Given the description of an element on the screen output the (x, y) to click on. 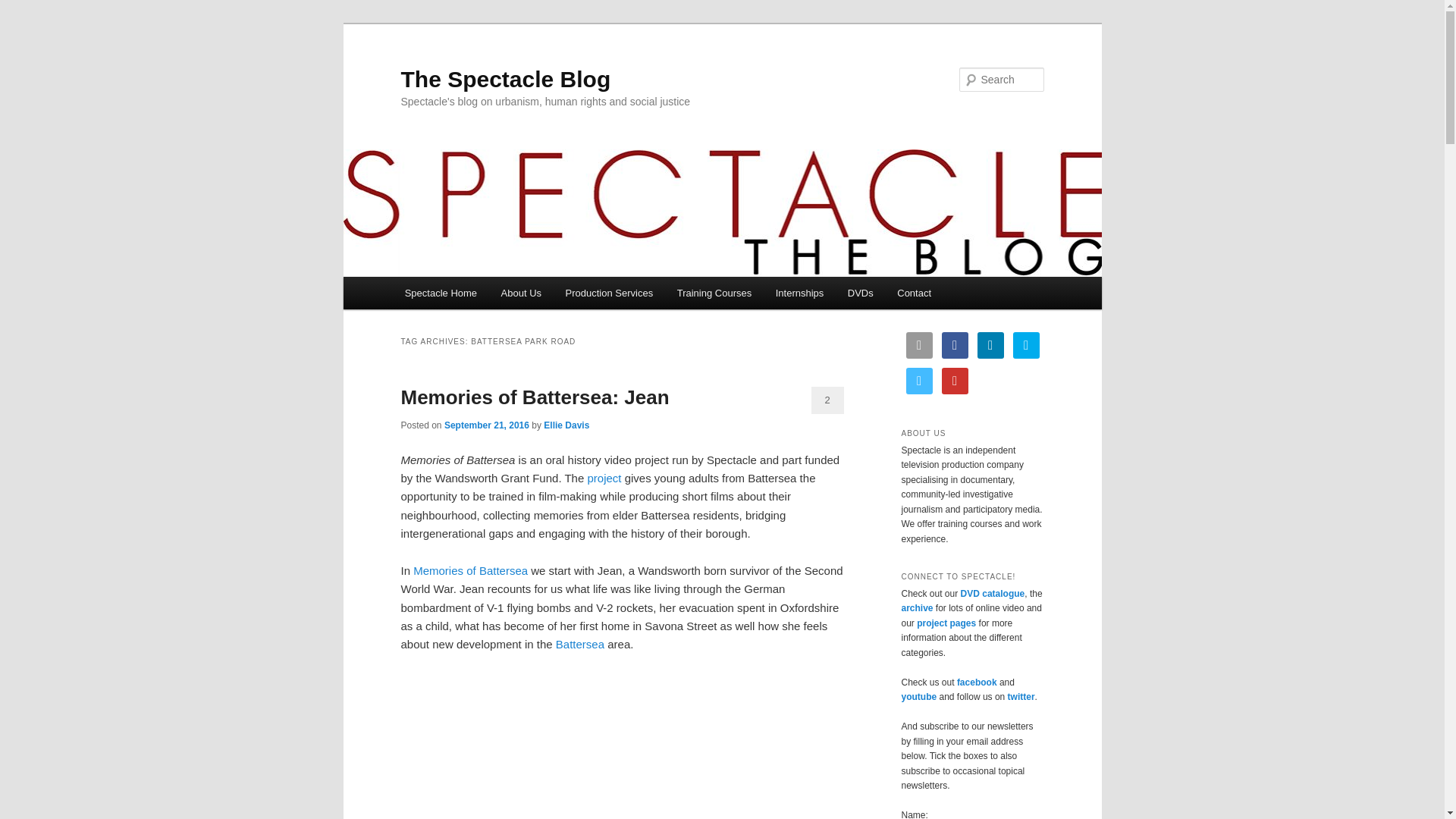
Search (24, 8)
2 (827, 400)
About Us (521, 292)
Memories of Battersea (470, 570)
Memories of Battersea: Jean (534, 396)
Contact (914, 292)
Ellie Davis (566, 425)
Battersea (580, 644)
Spectacle Home (441, 292)
DVDs (860, 292)
